Given the description of an element on the screen output the (x, y) to click on. 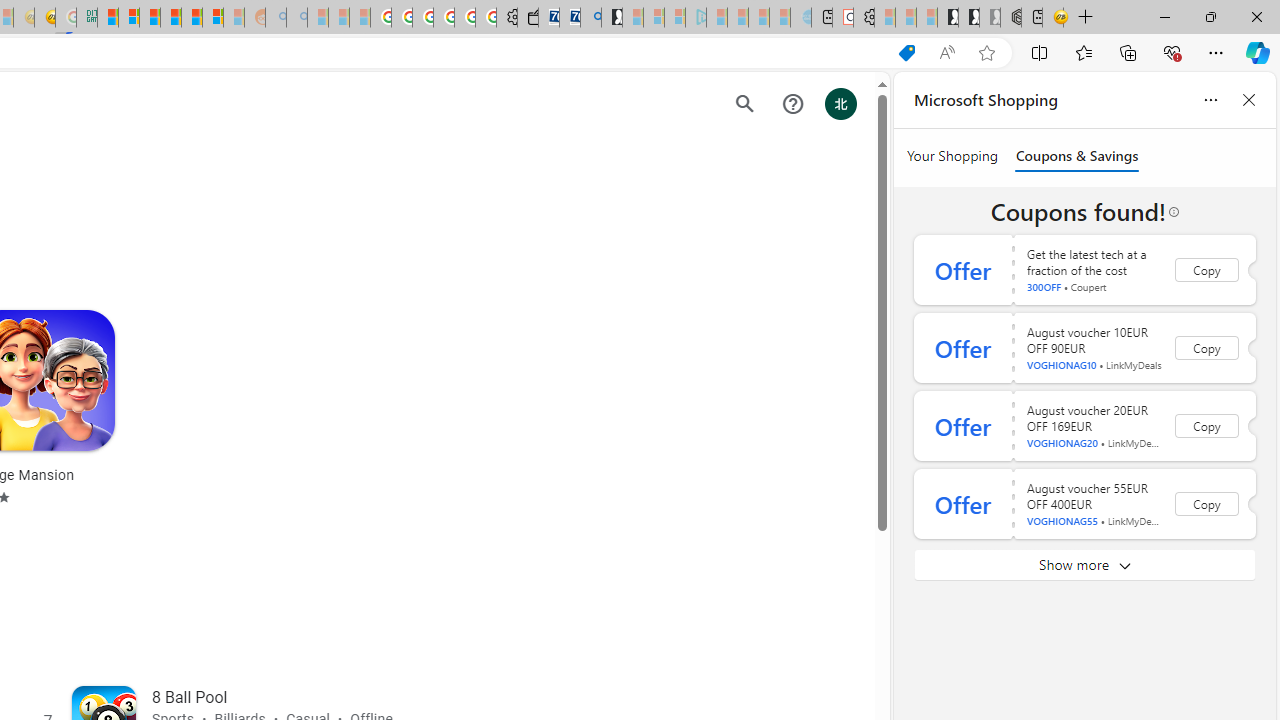
Help Center (792, 103)
Kinda Frugal - MSN (191, 17)
